Given the description of an element on the screen output the (x, y) to click on. 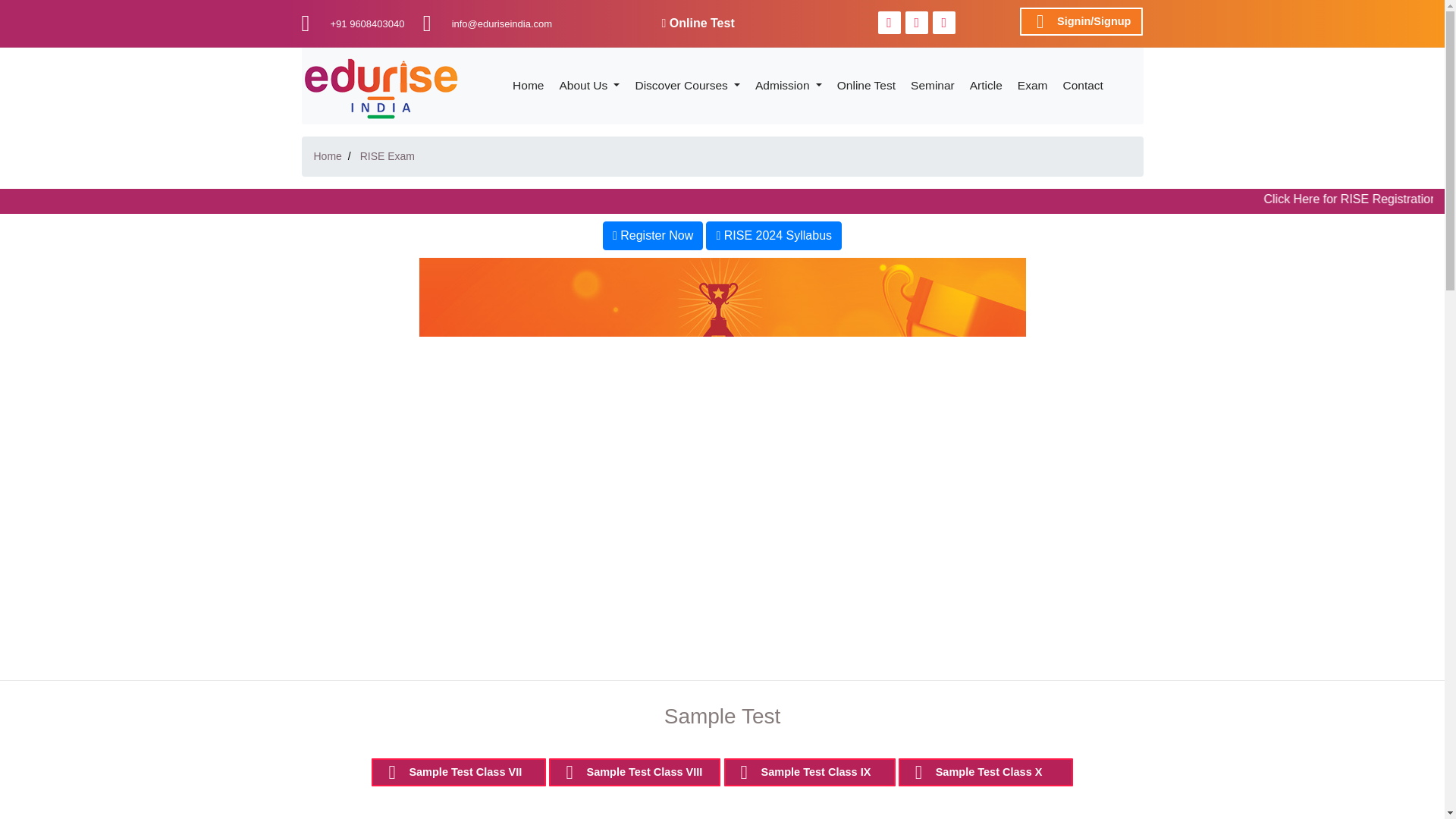
Contact (1082, 84)
Home (527, 84)
Online Test (866, 84)
Home (328, 155)
Exam (1032, 84)
Seminar (933, 84)
Online Test (697, 22)
About Us (589, 84)
Article (986, 84)
Admission (788, 84)
